Given the description of an element on the screen output the (x, y) to click on. 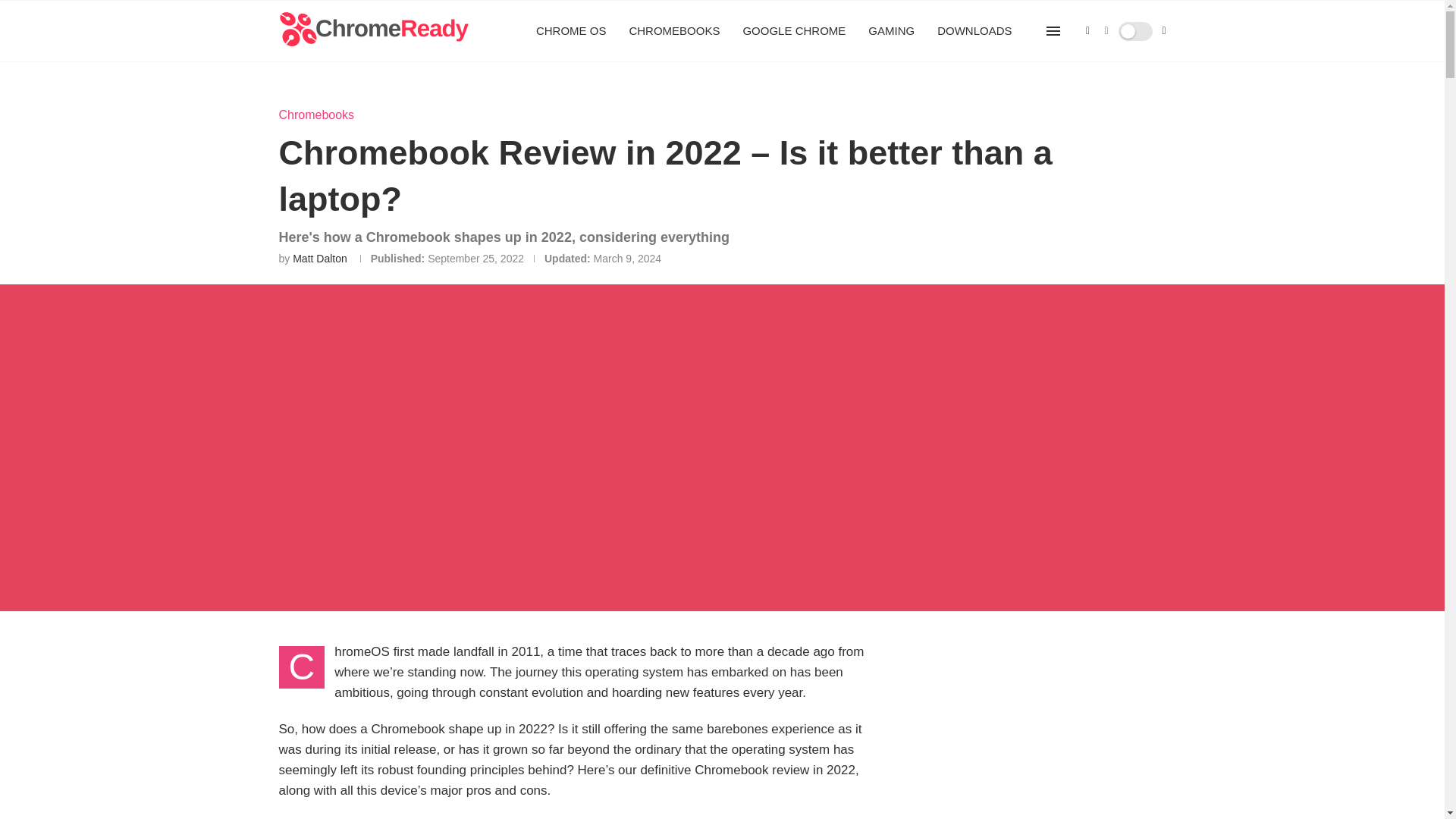
GOOGLE CHROME (793, 30)
DOWNLOADS (974, 30)
Chromebooks (317, 114)
Matt Dalton (319, 258)
CHROME OS (571, 30)
CHROMEBOOKS (673, 30)
